Given the description of an element on the screen output the (x, y) to click on. 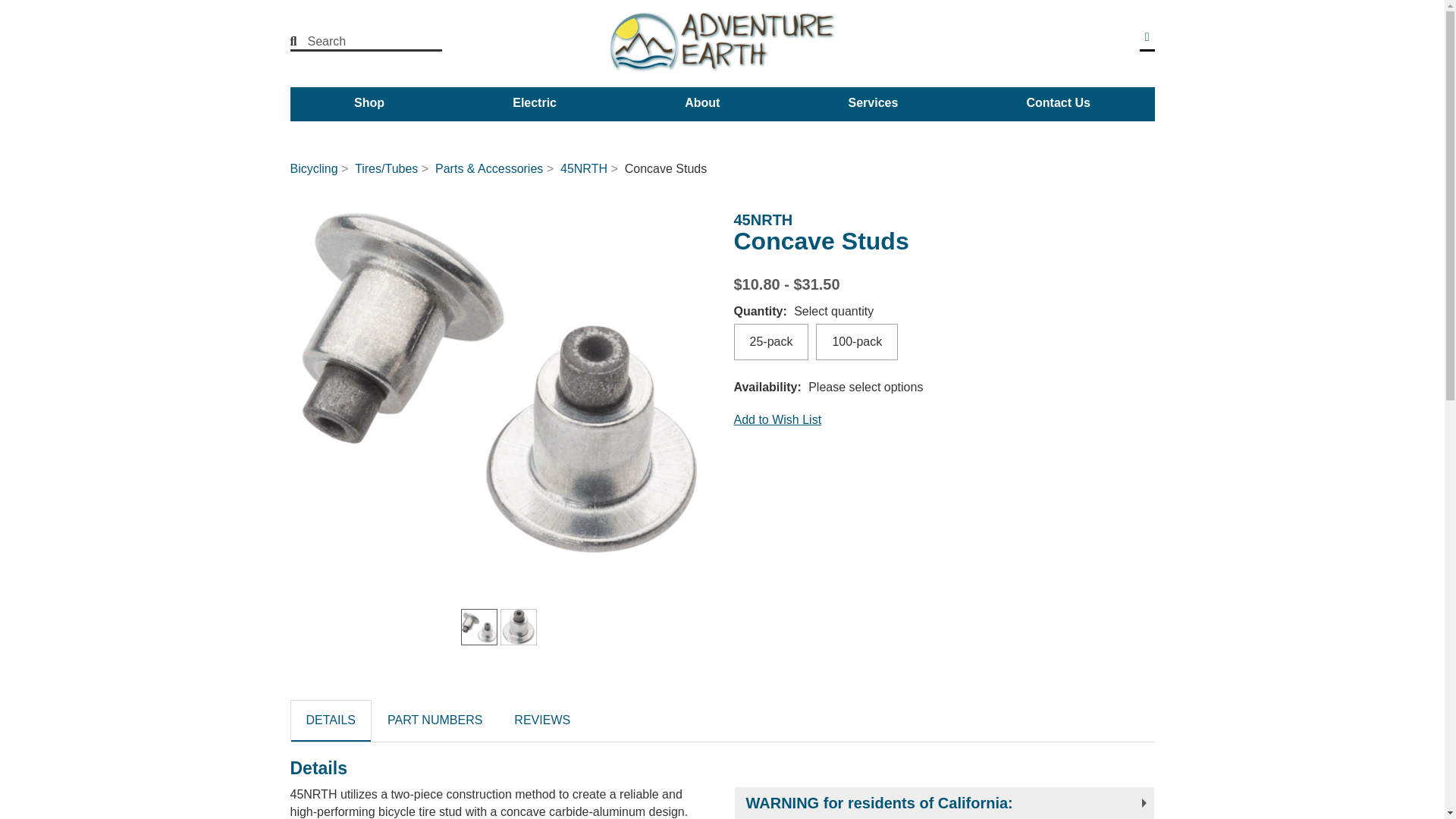
Adventure Earth Home Page (721, 41)
Store (1147, 36)
Shop (368, 102)
Search (356, 41)
Search (298, 41)
Store (1147, 36)
